Given the description of an element on the screen output the (x, y) to click on. 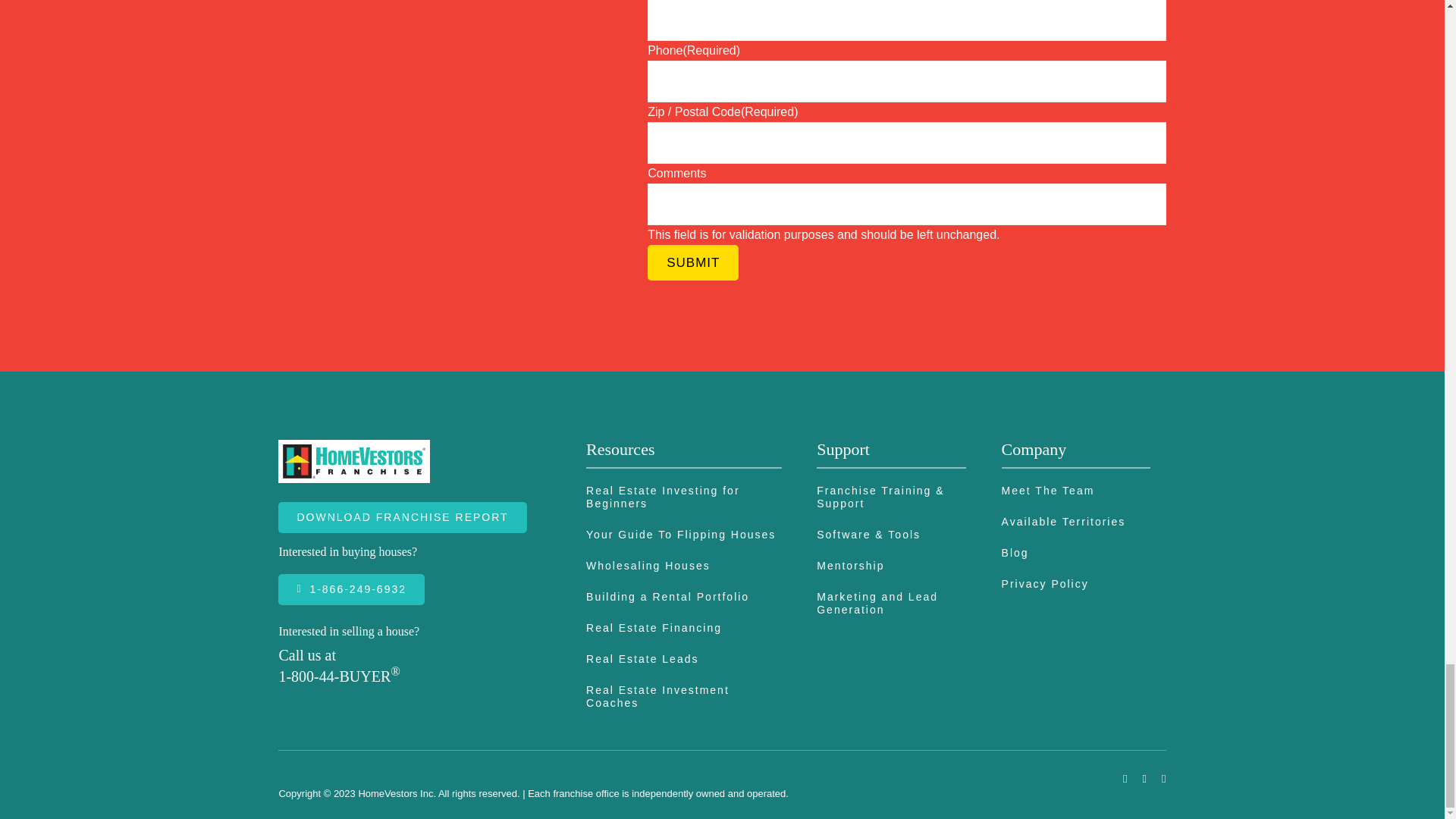
Submit (692, 248)
